Given the description of an element on the screen output the (x, y) to click on. 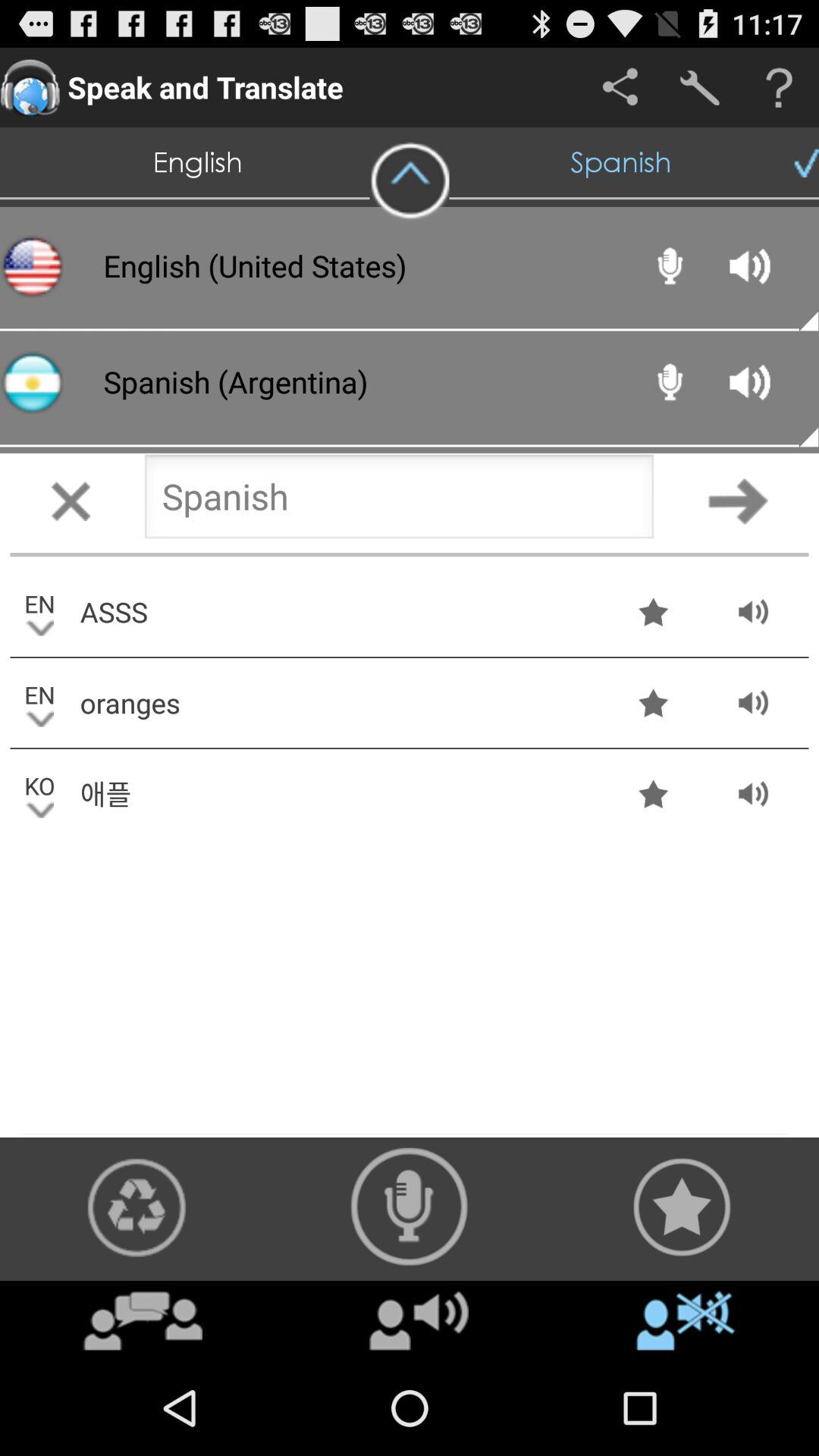
help button (779, 87)
